Given the description of an element on the screen output the (x, y) to click on. 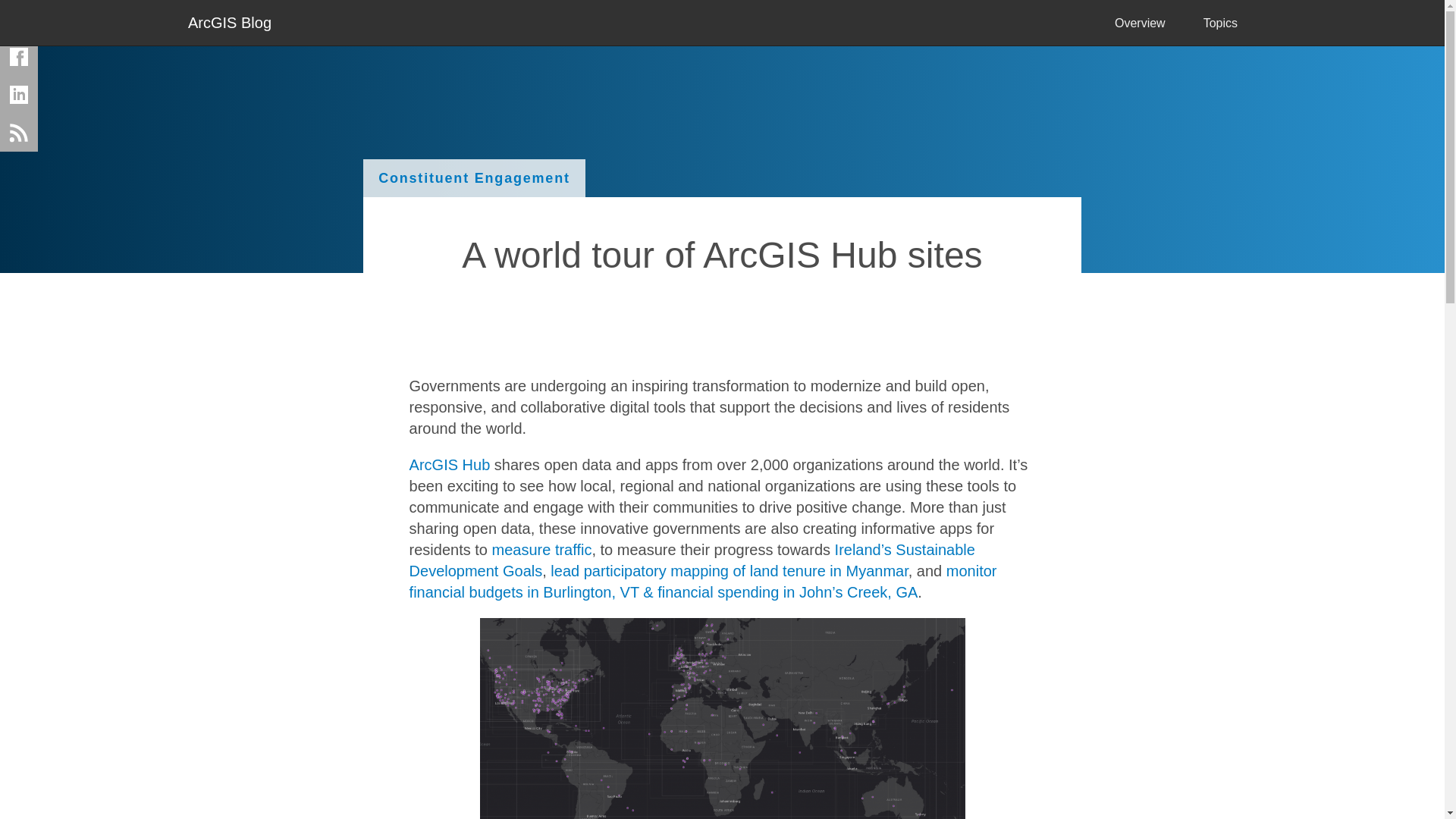
ArcGIS Blog (228, 21)
Constituent Engagement (473, 177)
Burlington, VT Budgets (703, 581)
lead participatory mapping of land tenure in Myanmar (728, 570)
Topics (1220, 22)
Ireland GeoHive (692, 560)
Overview (1140, 22)
ArcGIS Hub (449, 464)
monitor financial budgets in Burlington, VT (703, 581)
Land Tenure Myanmar (728, 570)
